Given the description of an element on the screen output the (x, y) to click on. 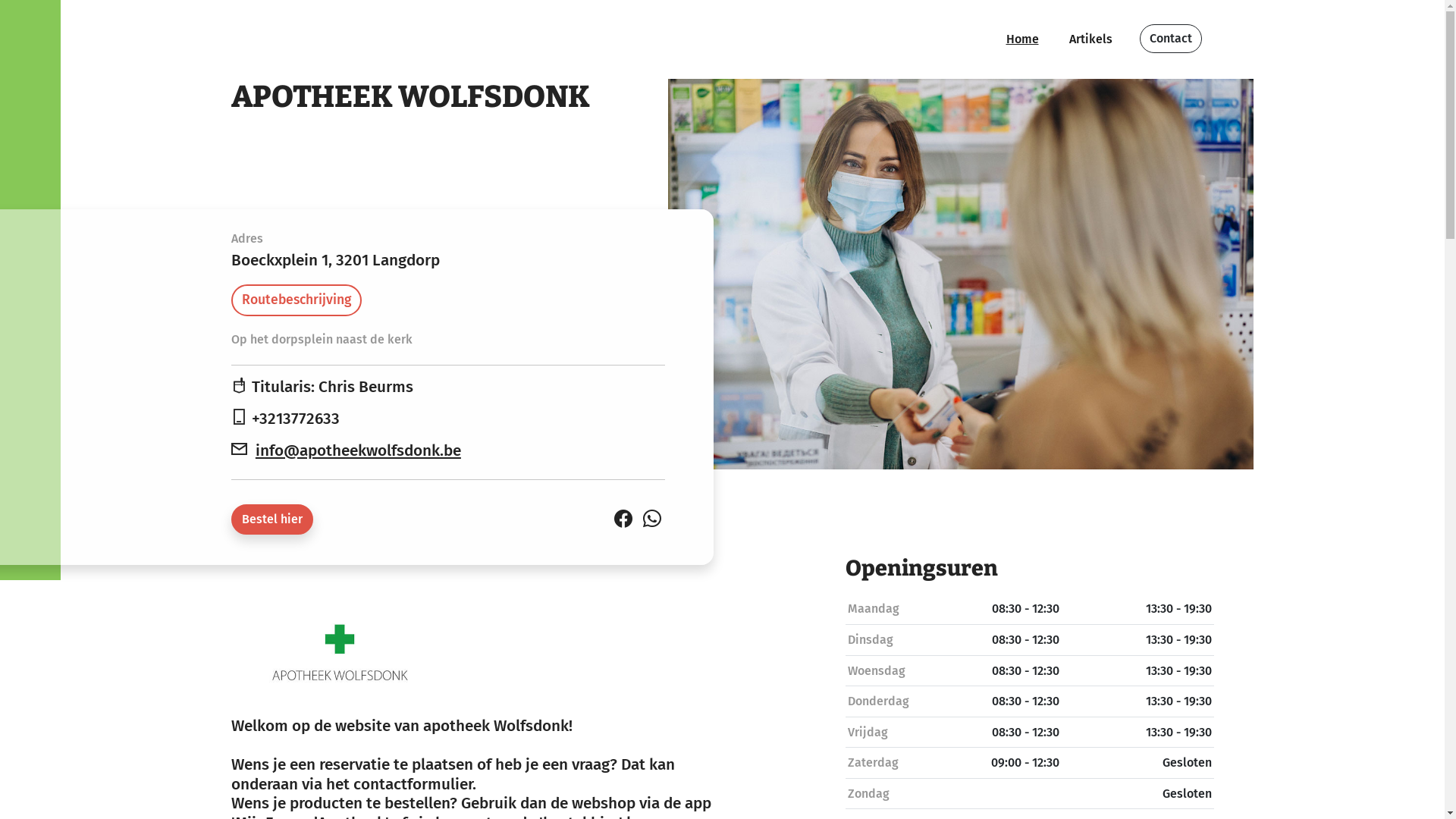
info@apotheekwolfsdonk.be Element type: text (358, 450)
Routebeschrijving Element type: text (295, 300)
Home Element type: text (1021, 39)
Bestel hier Element type: text (271, 519)
Artikels Element type: text (1090, 39)
Contact Element type: text (1170, 38)
